Given the description of an element on the screen output the (x, y) to click on. 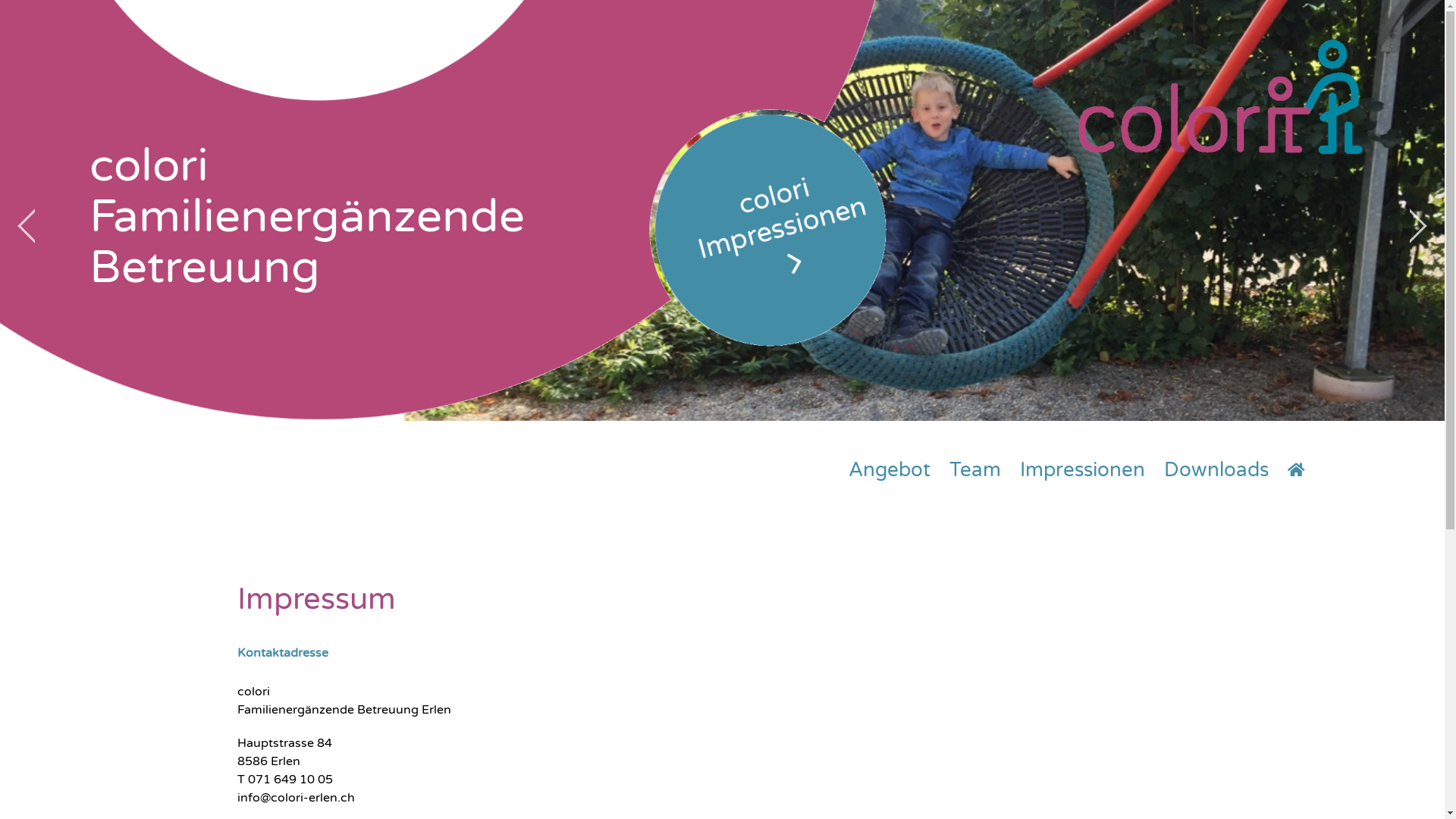
Team Element type: text (975, 470)
Angebot Element type: text (889, 470)
Downloads Element type: text (1216, 470)
Impressionen Element type: text (1082, 470)
